Given the description of an element on the screen output the (x, y) to click on. 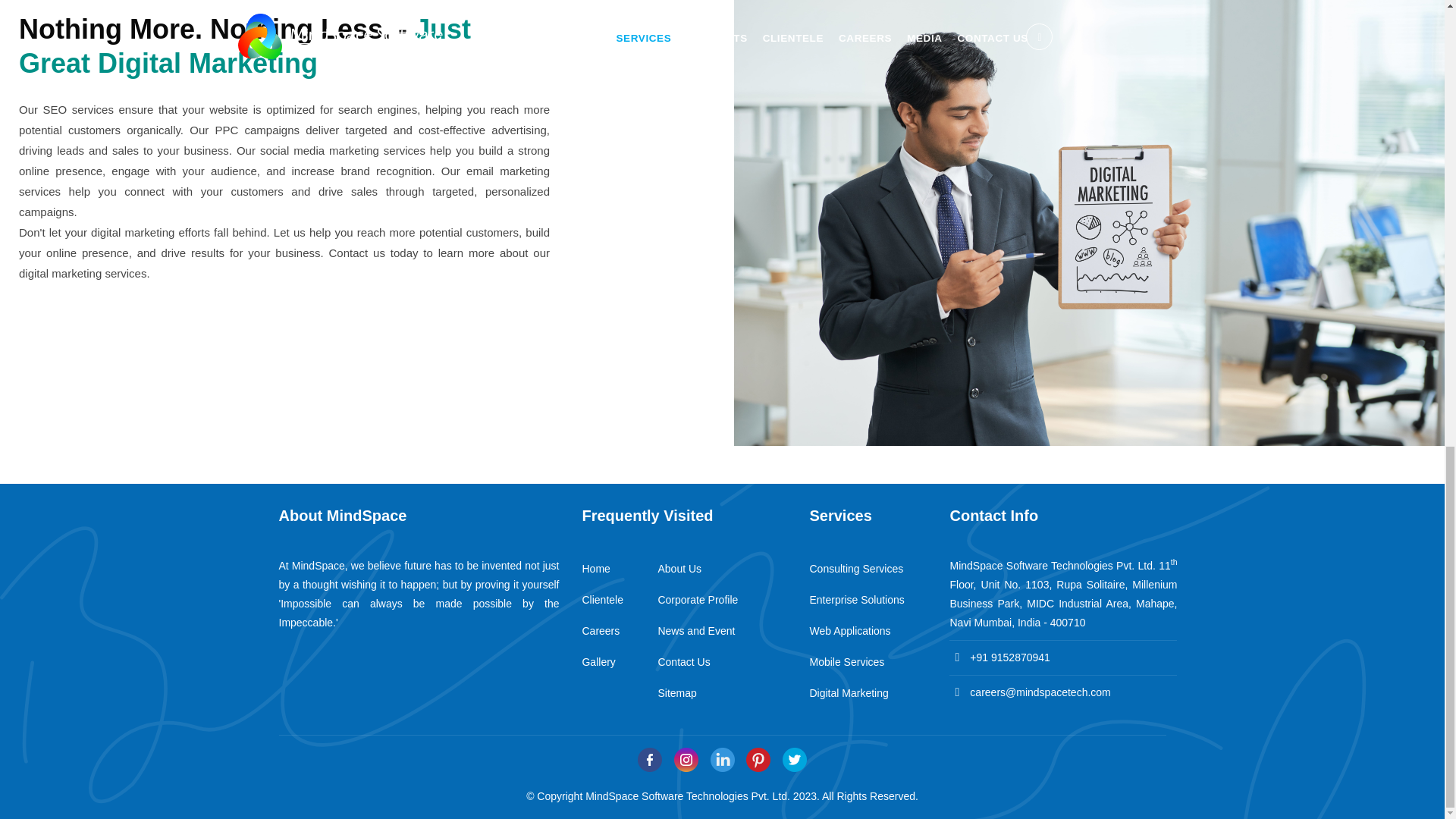
Mobile Services (846, 662)
Sitemap (676, 693)
Digital Marketing (848, 693)
Careers (600, 630)
Consulting Services (855, 568)
Contact Us (684, 662)
Enterprise Solutions (856, 599)
Corporate Profile (698, 599)
News and Event (696, 630)
Home (595, 568)
